Given the description of an element on the screen output the (x, y) to click on. 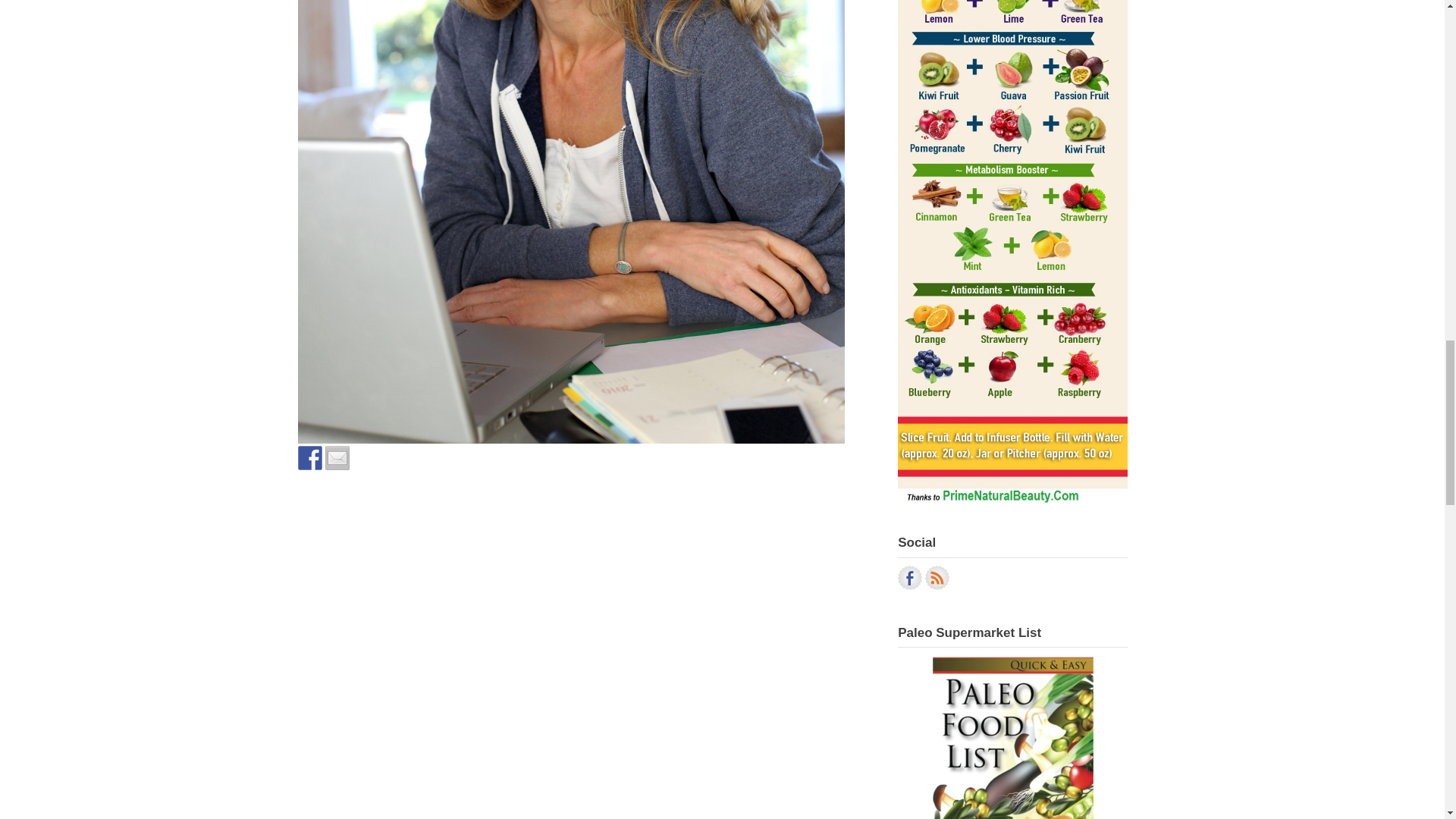
RSS Feed (936, 577)
Share on Facebook (309, 457)
Share by email (336, 457)
Follow us on Facebook (909, 577)
Paleo Food List: Food Guide by Jane Burton (1012, 721)
